Given the description of an element on the screen output the (x, y) to click on. 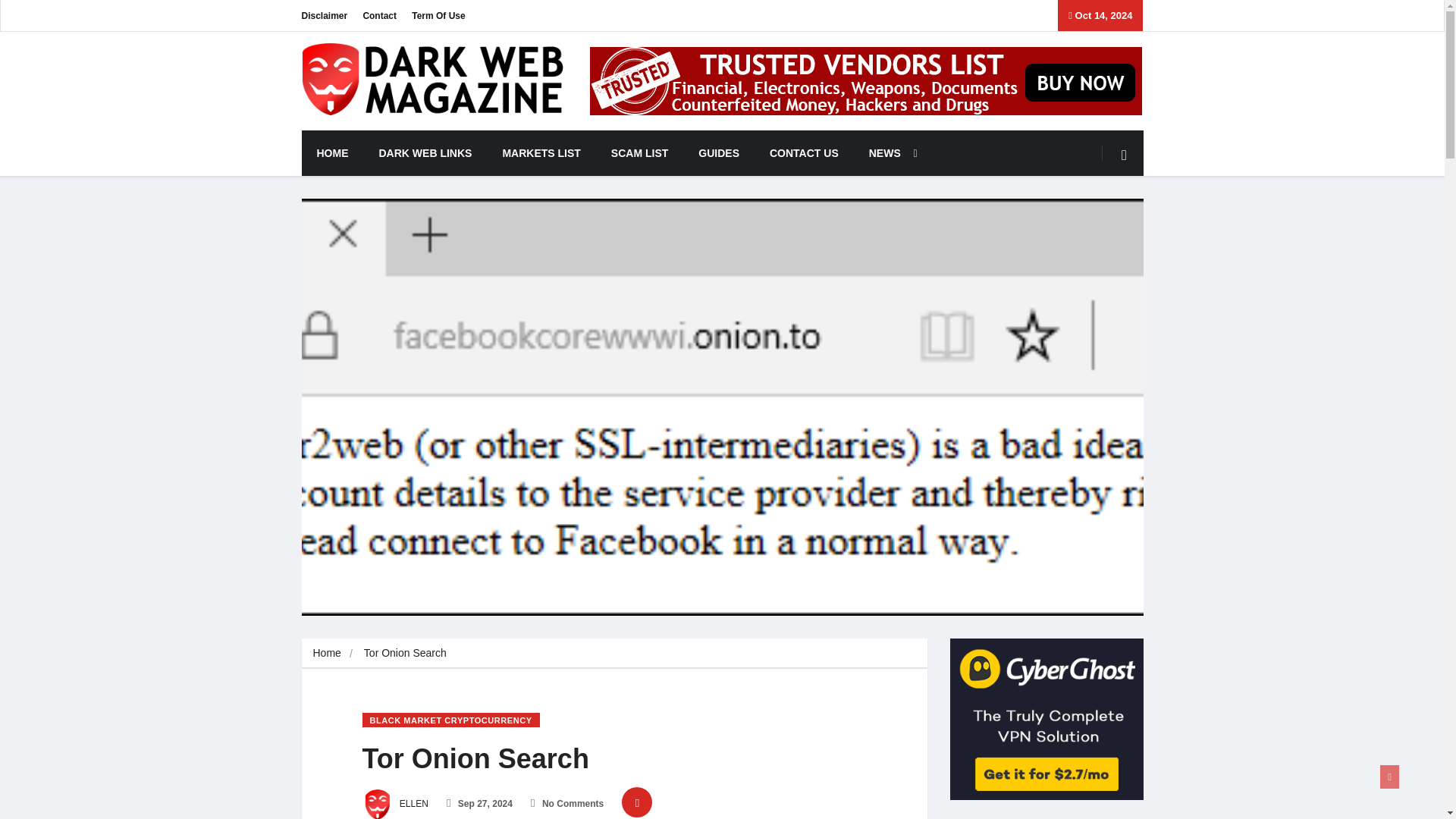
HOME (332, 153)
Contact (379, 15)
ELLEN (395, 803)
SCAM LIST (638, 153)
NEWS (888, 153)
MARKETS LIST (540, 153)
Term Of Use (438, 15)
GUIDES (718, 153)
BLACK MARKET CRYPTOCURRENCY (451, 719)
DARK WEB LINKS (425, 153)
CONTACT US (803, 153)
Disclaimer (324, 15)
Home (326, 653)
